Given the description of an element on the screen output the (x, y) to click on. 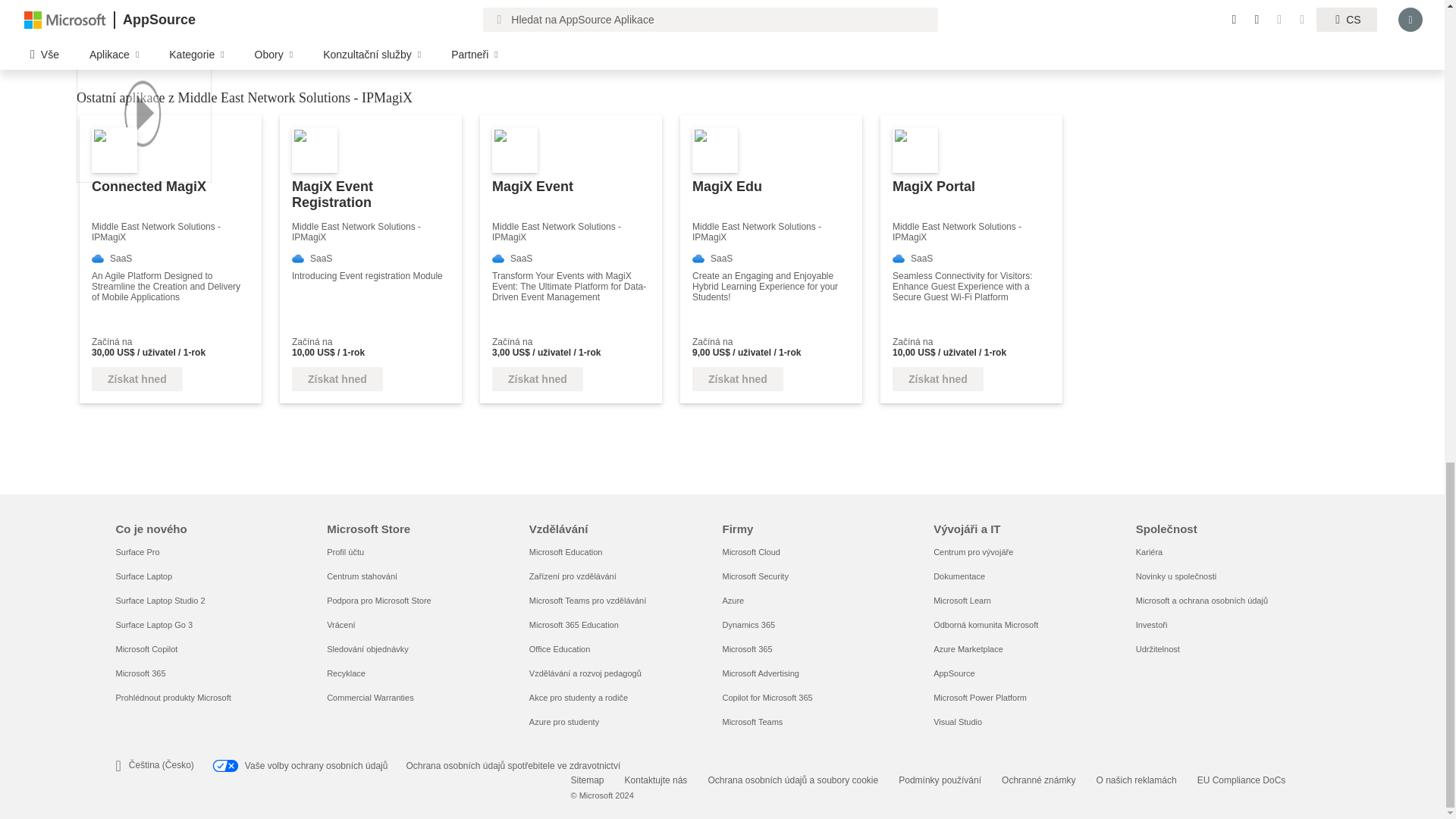
Microsoft 365 (140, 673)
Surface Laptop Go 3 (153, 624)
Microsoft Copilot (146, 648)
Surface Laptop Studio 2 (160, 600)
Surface Pro (136, 551)
Surface Laptop (143, 575)
